Given the description of an element on the screen output the (x, y) to click on. 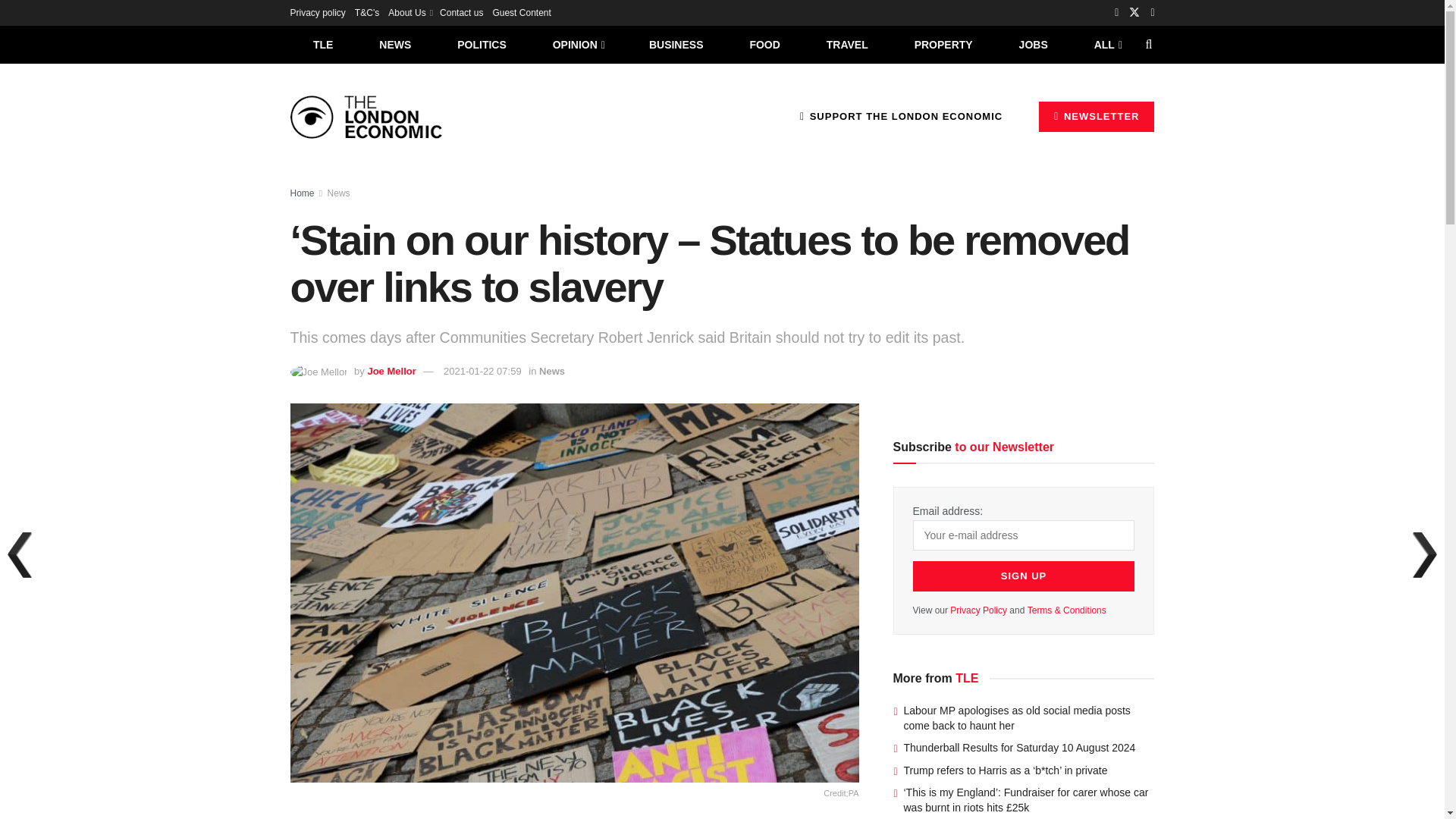
Sign up (1023, 576)
NEWSLETTER (1096, 116)
Contact us (461, 12)
Guest Content (521, 12)
OPINION (577, 44)
JOBS (1032, 44)
PROPERTY (943, 44)
SUPPORT THE LONDON ECONOMIC (900, 116)
ALL (1106, 44)
Privacy policy (317, 12)
